Given the description of an element on the screen output the (x, y) to click on. 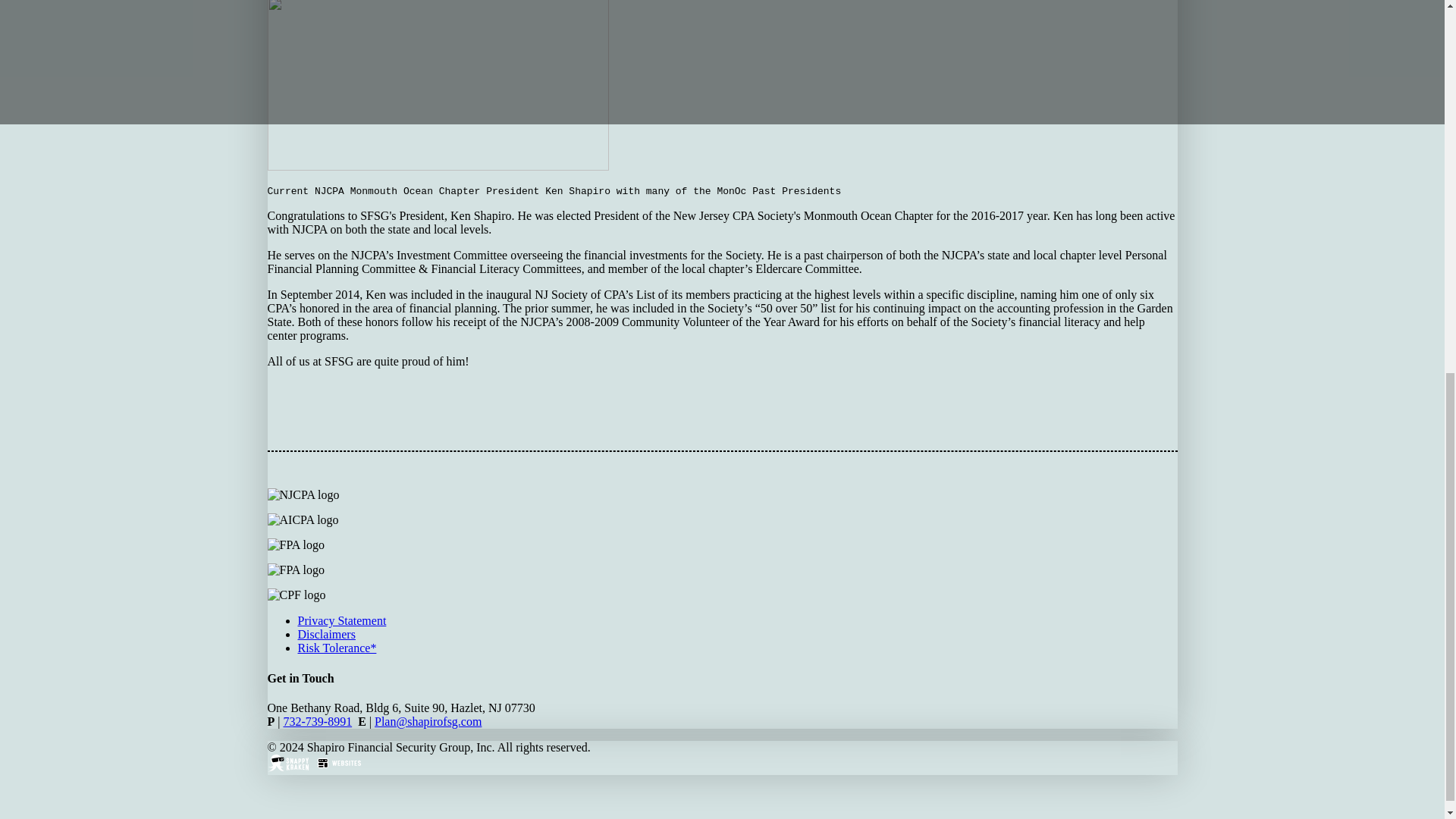
Privacy Statement (341, 620)
Disclaimers (326, 634)
732-739-8991 (317, 721)
